Given the description of an element on the screen output the (x, y) to click on. 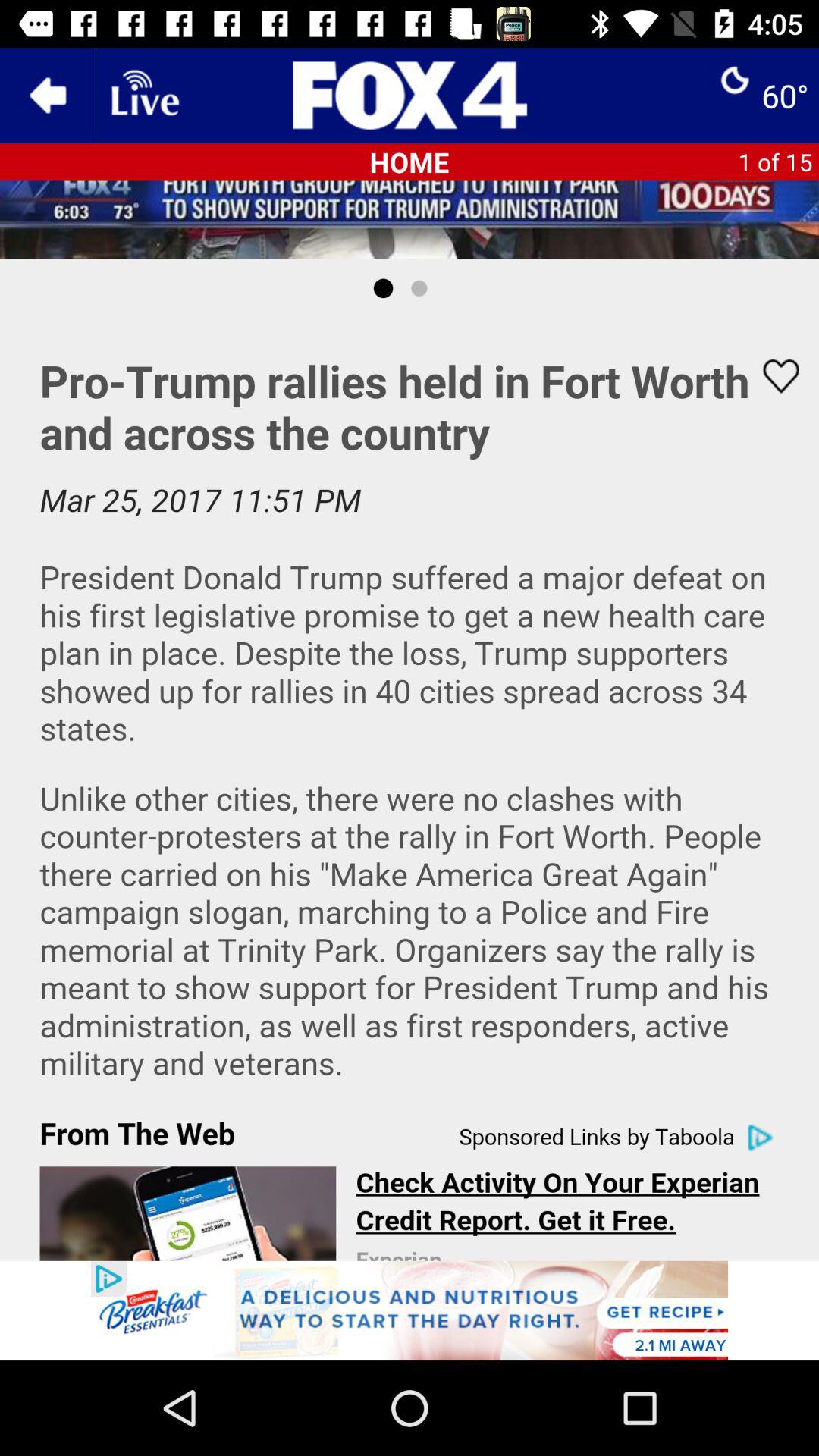
switch home option (409, 95)
